Given the description of an element on the screen output the (x, y) to click on. 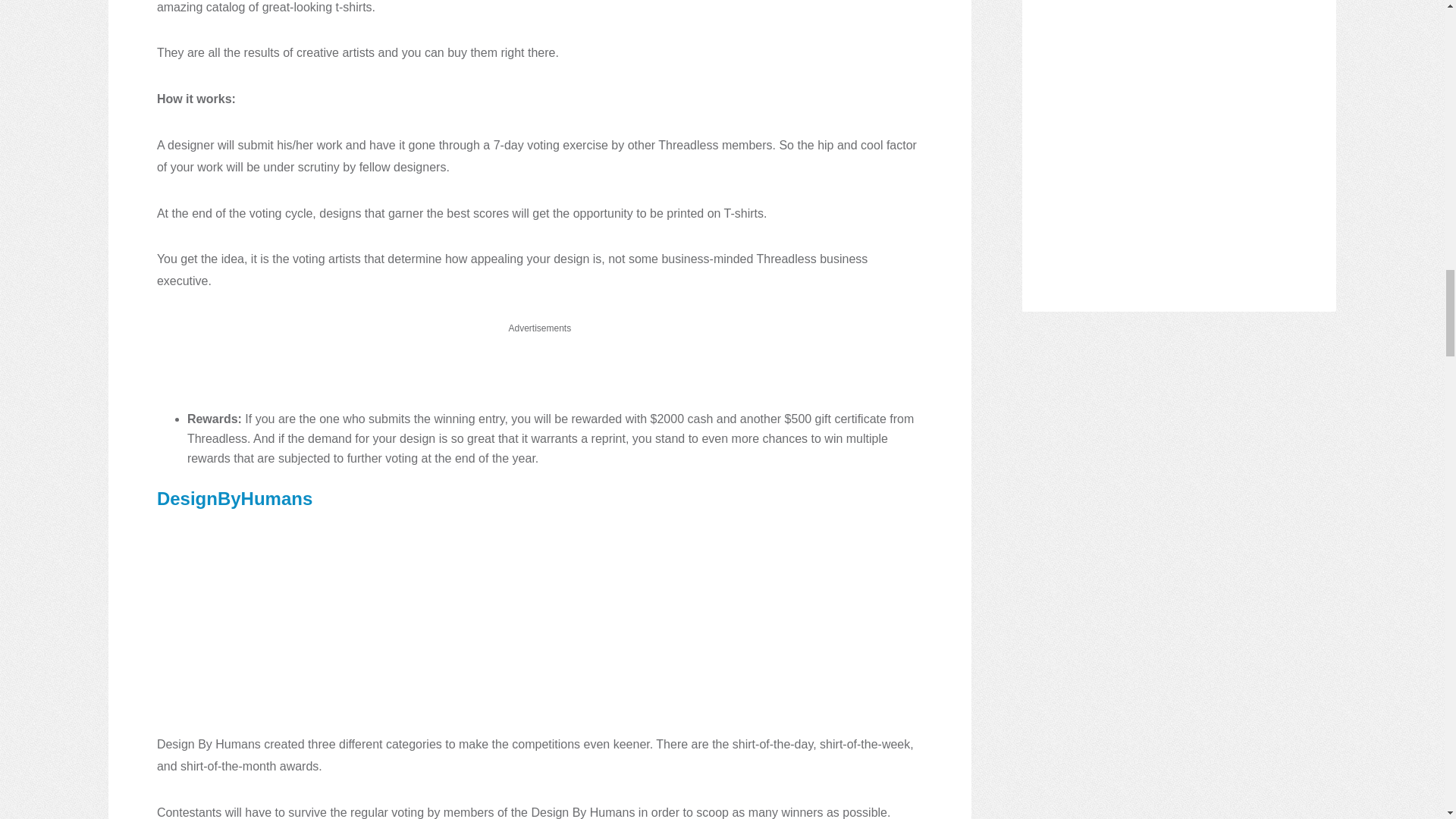
DesignByHumans (235, 498)
